Given the description of an element on the screen output the (x, y) to click on. 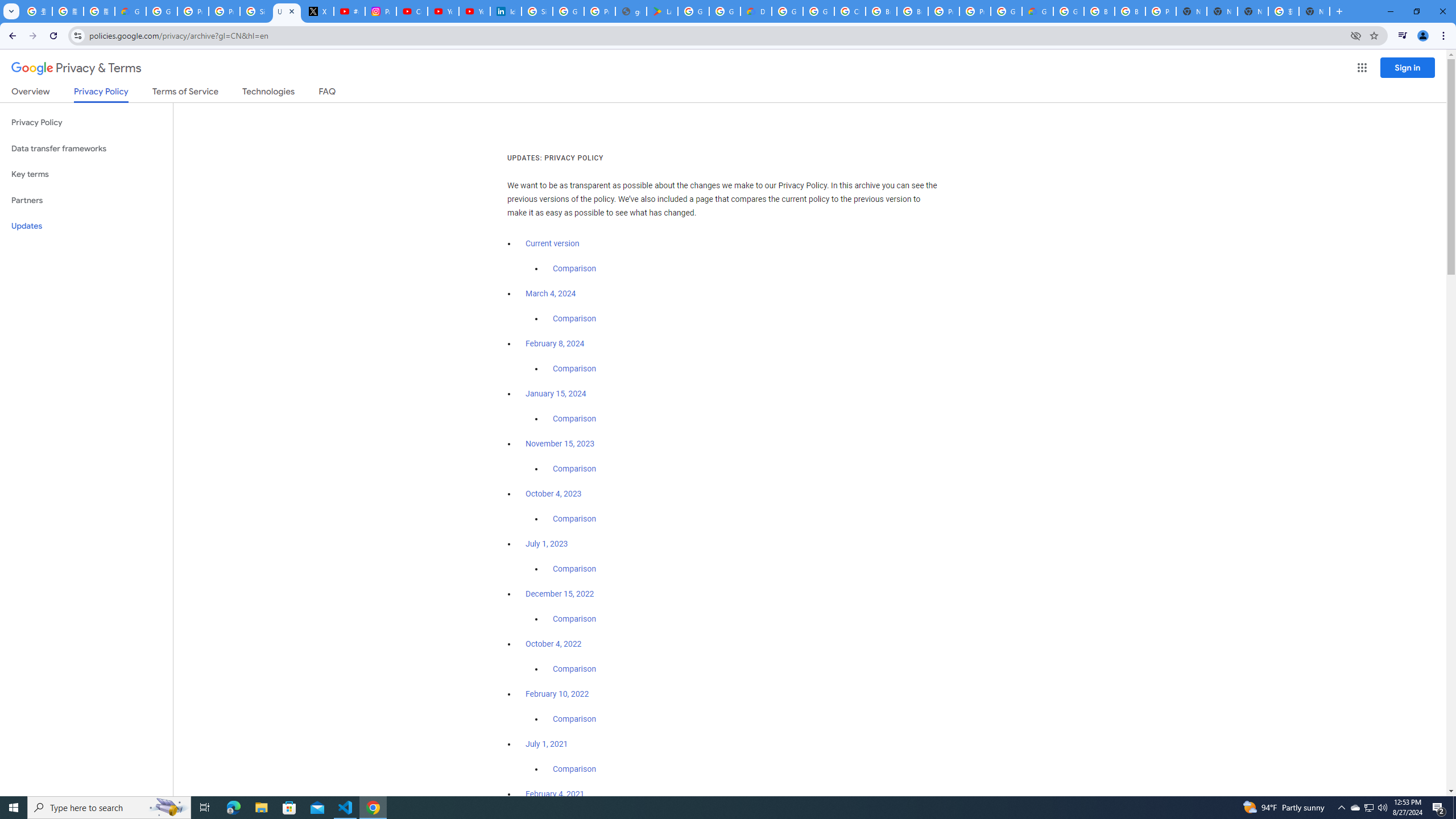
Google Cloud Platform (787, 11)
YouTube Culture & Trends - YouTube Top 10, 2021 (474, 11)
February 10, 2022 (557, 693)
Google Cloud Platform (1005, 11)
